Given the description of an element on the screen output the (x, y) to click on. 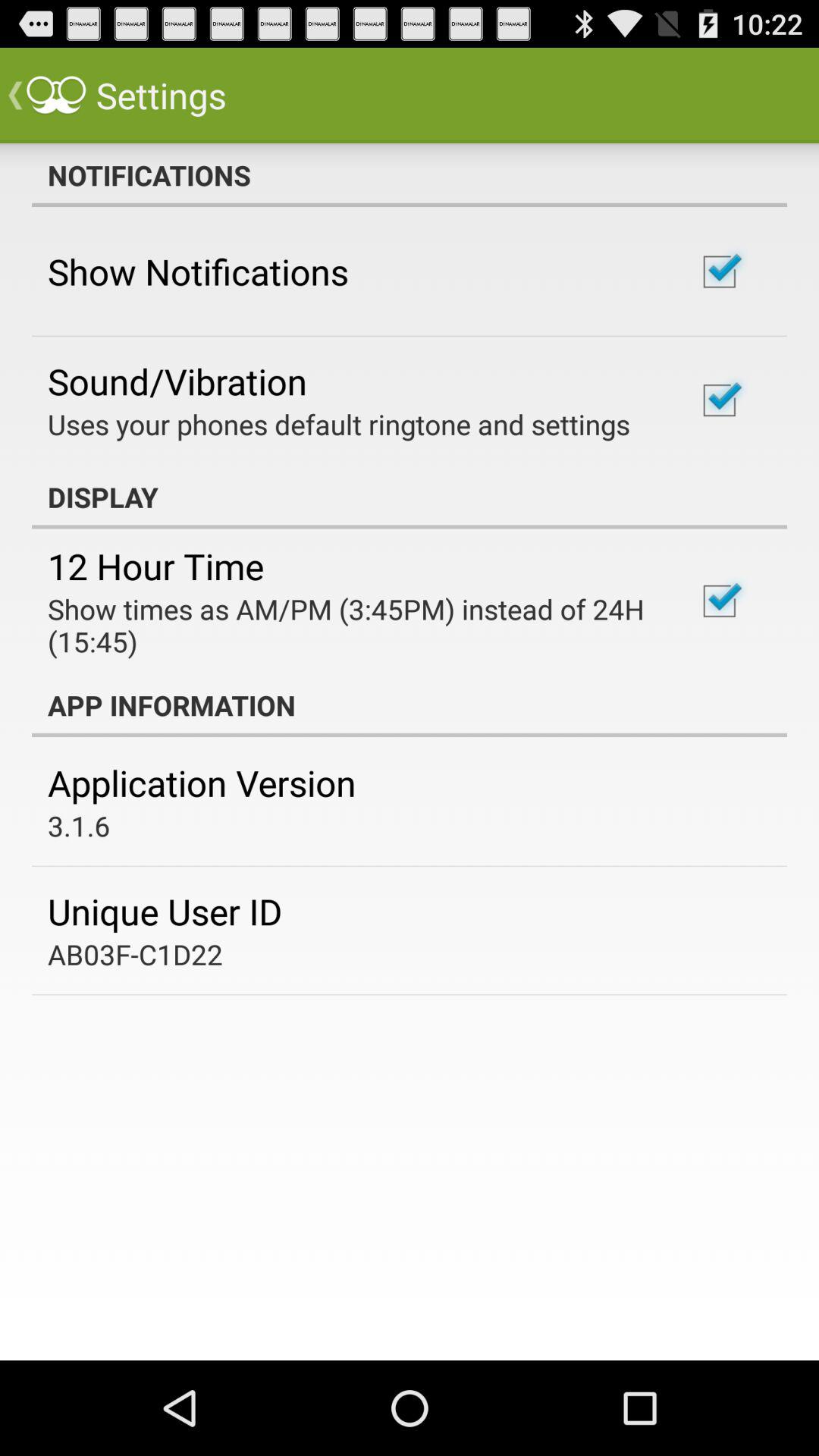
jump to the 3.1.6 icon (78, 825)
